Given the description of an element on the screen output the (x, y) to click on. 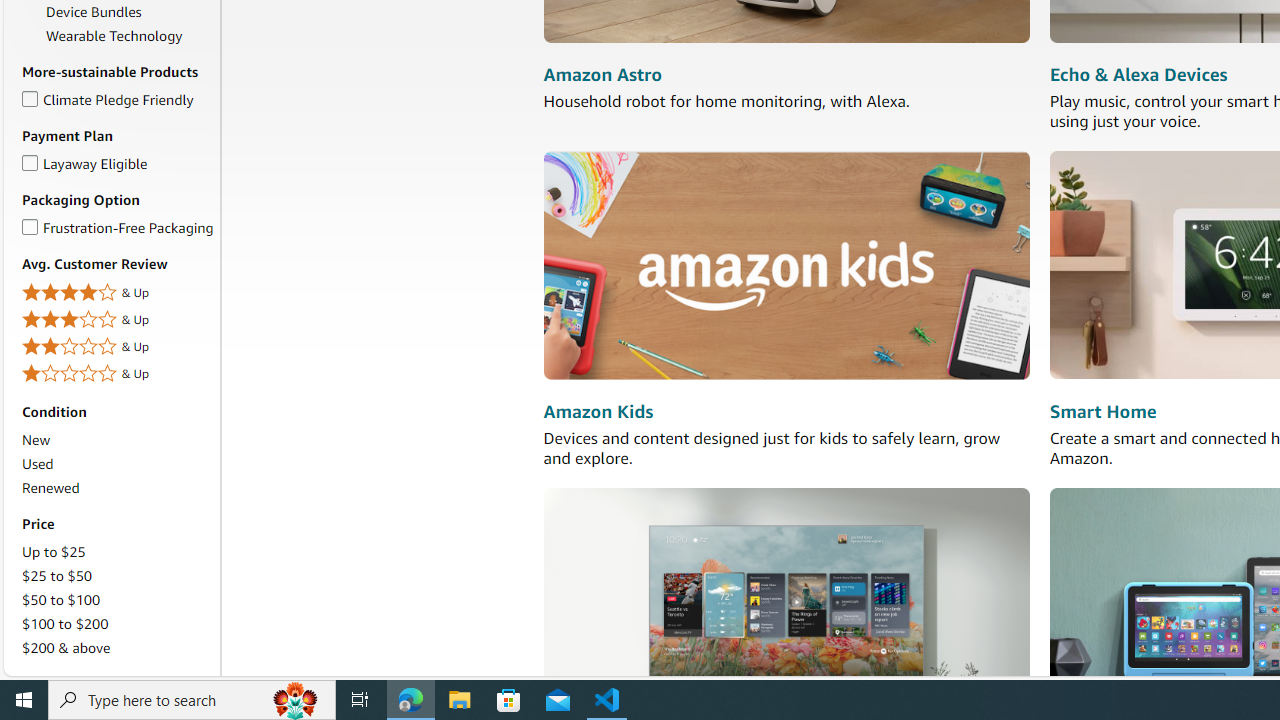
1 Star & Up (117, 373)
Fire TV devices (786, 600)
1 Star & Up& Up (117, 373)
$25 to $50 (57, 575)
Used (37, 464)
Renewed (117, 488)
Layaway EligibleLayaway Eligible (117, 164)
Device Bundles (94, 11)
Climate Pledge FriendlyClimate Pledge Friendly (117, 100)
Frustration-Free Packaging (29, 223)
$50 to $100 (61, 600)
Wearable Technology (114, 35)
3 Stars & Up& Up (117, 319)
$100 to $200 (64, 623)
Layaway Eligible (29, 159)
